Given the description of an element on the screen output the (x, y) to click on. 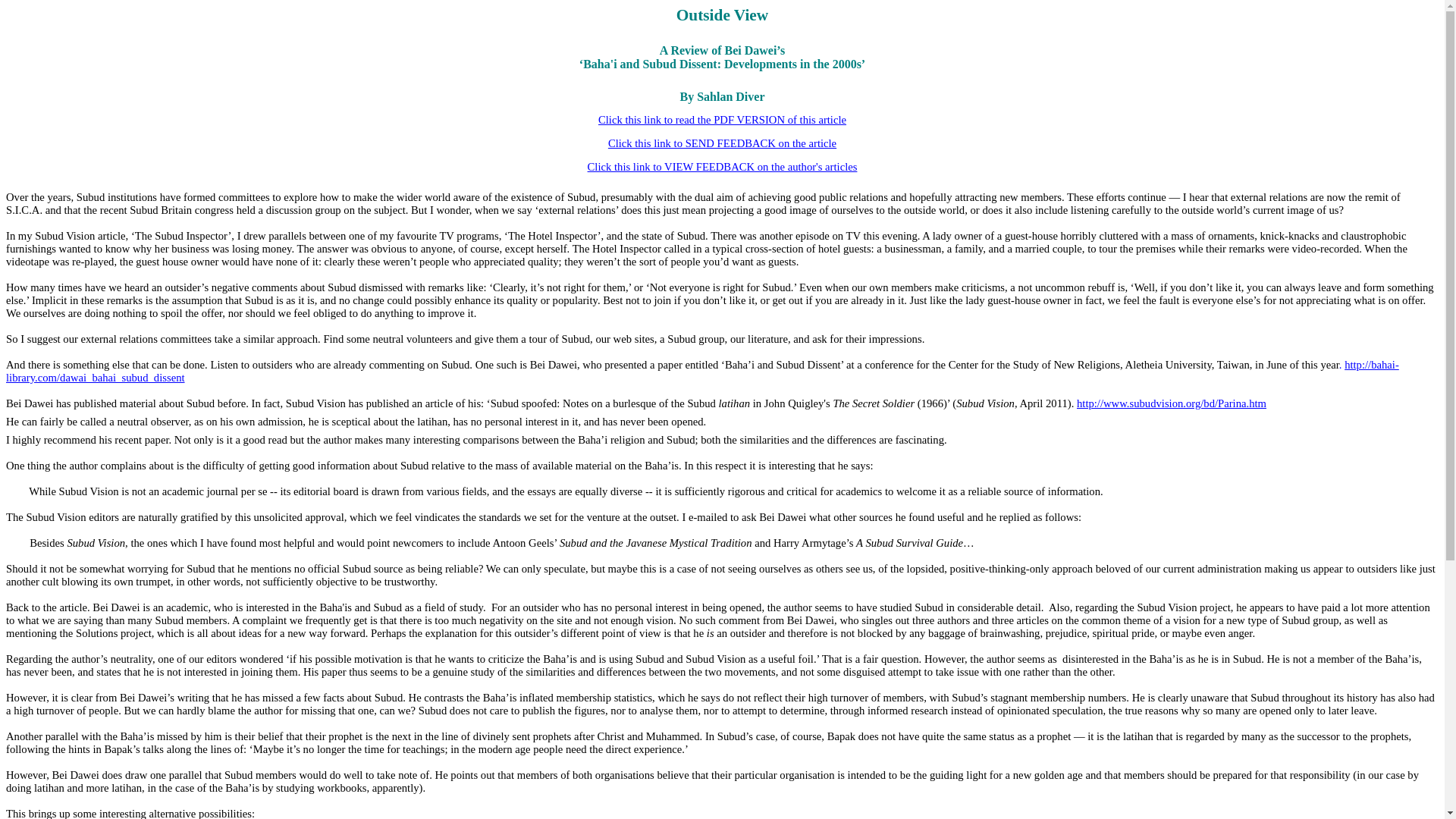
Click this link to read the PDF VERSION of this article (721, 119)
Click this link to SEND FEEDBACK on the article (721, 143)
Click this link to VIEW FEEDBACK on the author's articles (722, 166)
